Given the description of an element on the screen output the (x, y) to click on. 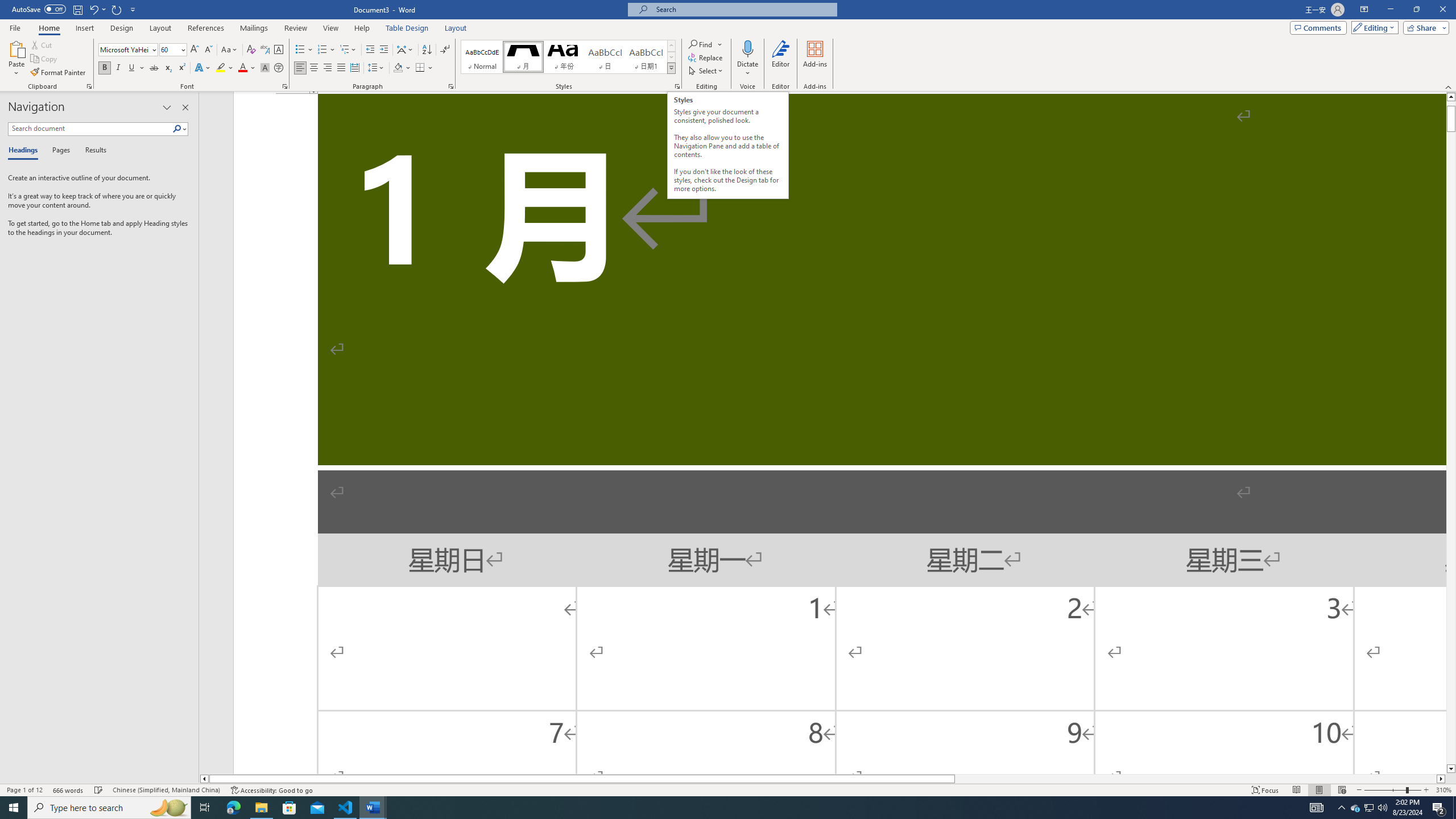
Find (705, 44)
Undo Increase Indent (92, 9)
Italic (118, 67)
Page up (1450, 103)
Numbering (322, 49)
Bullets (304, 49)
Borders (424, 67)
Line down (1450, 768)
Collapse the Ribbon (1448, 86)
Text Highlight Color (224, 67)
System (6, 6)
Results (91, 150)
Styles (670, 67)
Paste (16, 58)
